Given the description of an element on the screen output the (x, y) to click on. 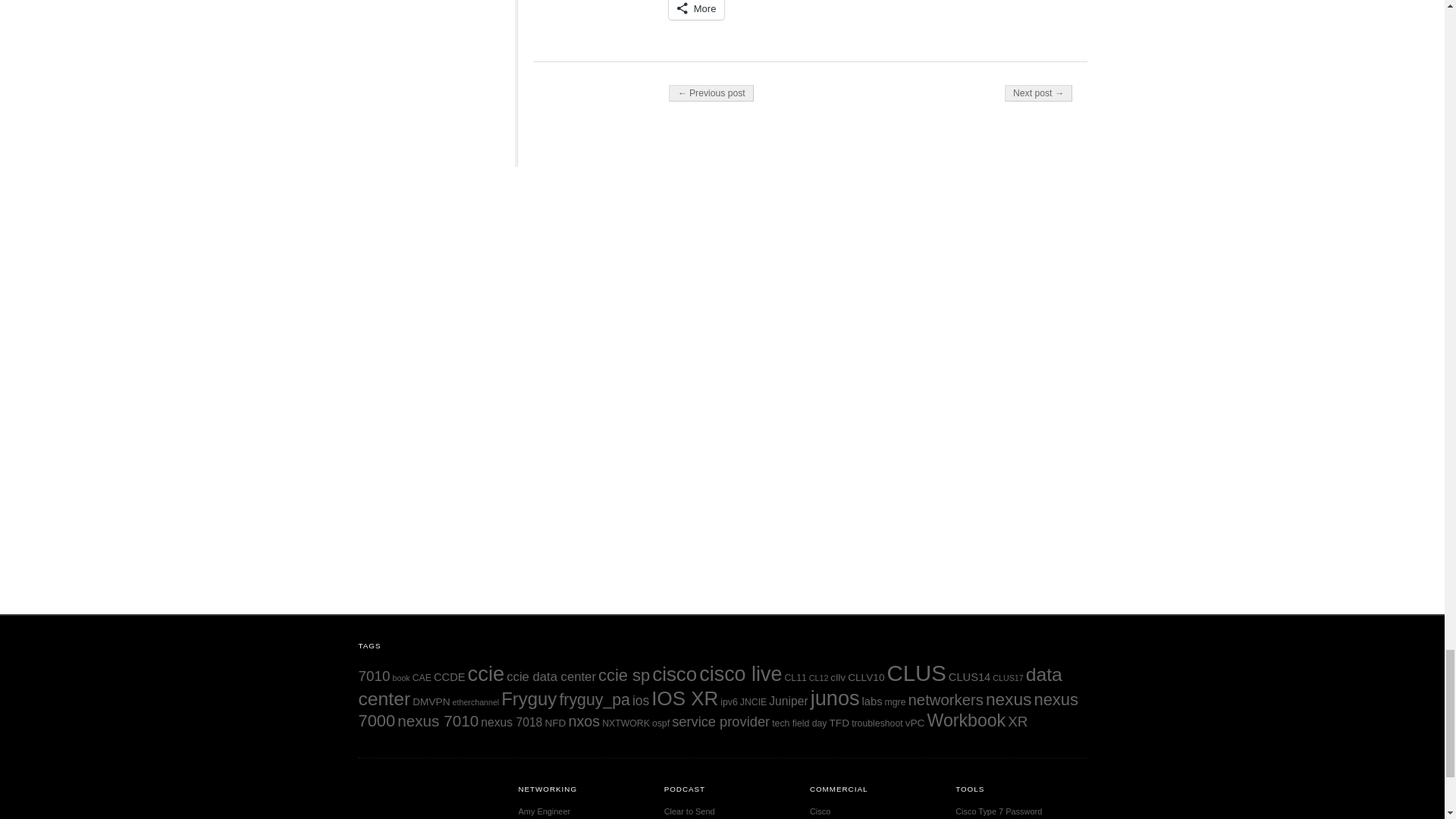
7010 (374, 675)
More (696, 9)
book (401, 677)
